Given the description of an element on the screen output the (x, y) to click on. 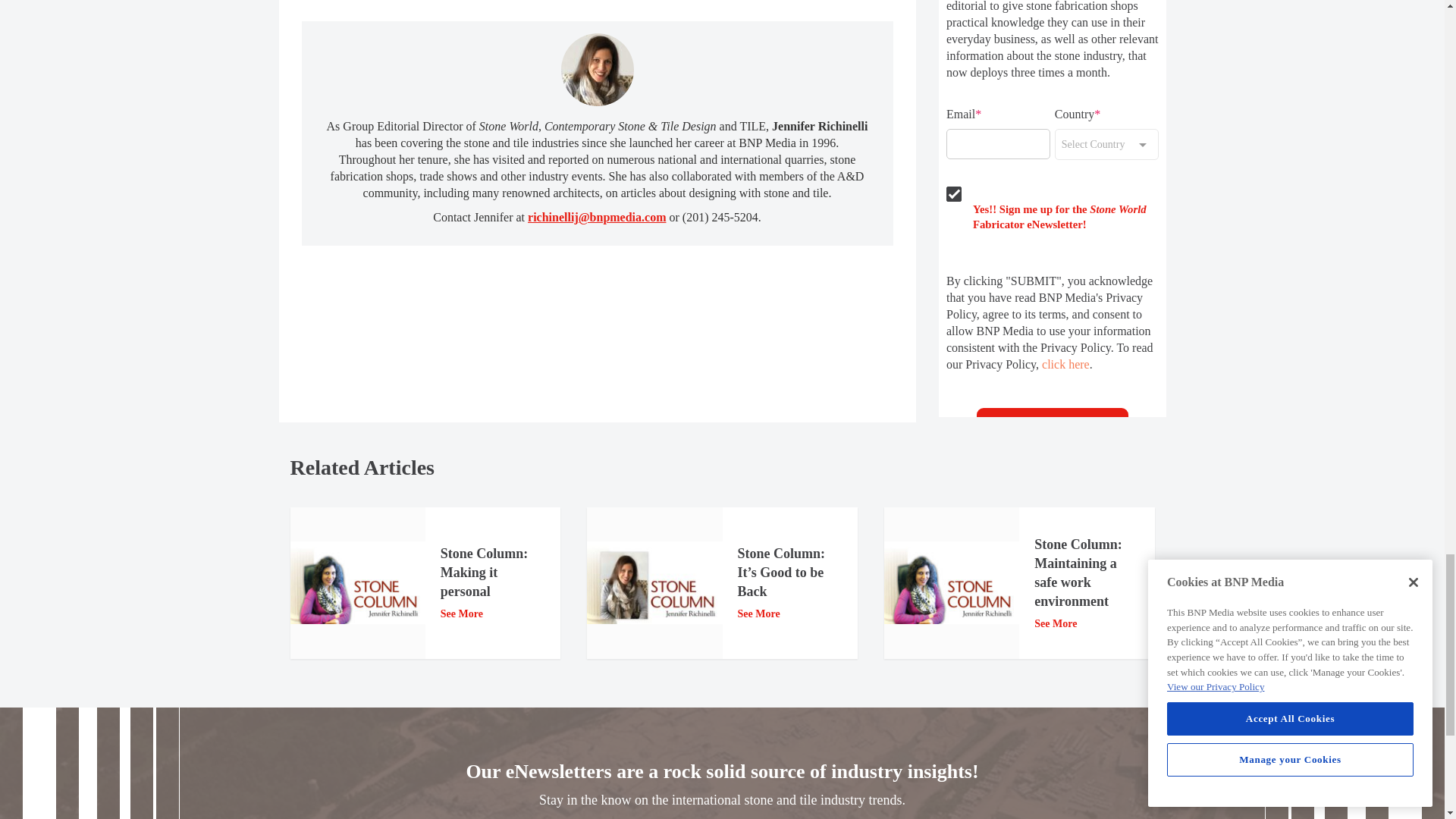
Stone Column- Revised 2020, January (654, 582)
Stone Column (951, 582)
Stone Column (357, 582)
